Given the description of an element on the screen output the (x, y) to click on. 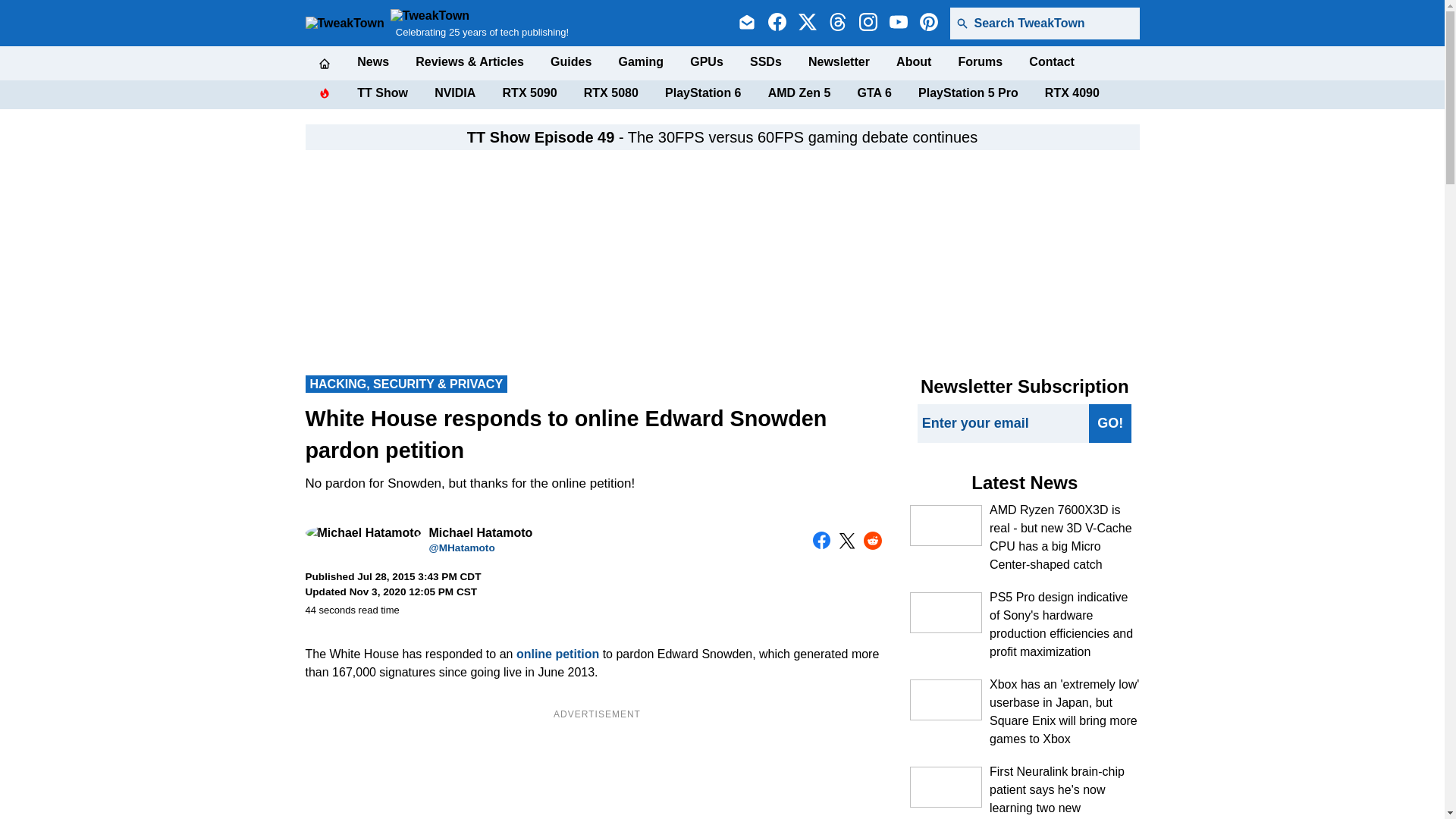
News (372, 61)
Celebrating 25 years of tech publishing! (479, 22)
GO! (1110, 423)
Share on Reddit (871, 540)
Share on Facebook (821, 540)
Share on X (847, 540)
Michael Hatamoto (362, 533)
